Given the description of an element on the screen output the (x, y) to click on. 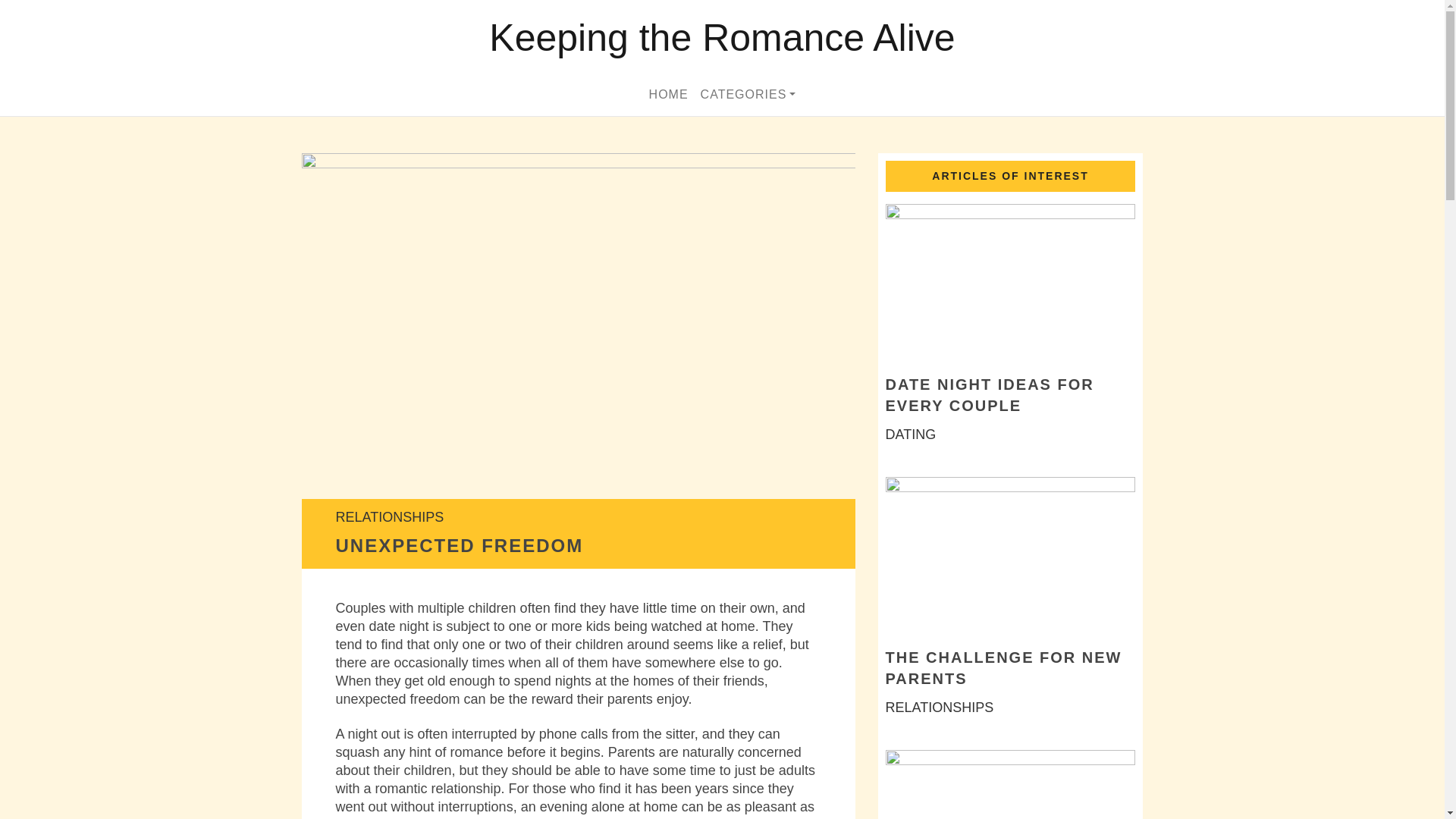
DATE NIGHT IDEAS FOR EVERY COUPLE (989, 394)
DATING (910, 434)
Keeping the Romance Alive (722, 37)
HOME (668, 94)
RELATIONSHIPS (389, 516)
CATEGORIES (748, 94)
THE CHALLENGE FOR NEW PARENTS (1003, 668)
RELATIONSHIPS (939, 707)
